Given the description of an element on the screen output the (x, y) to click on. 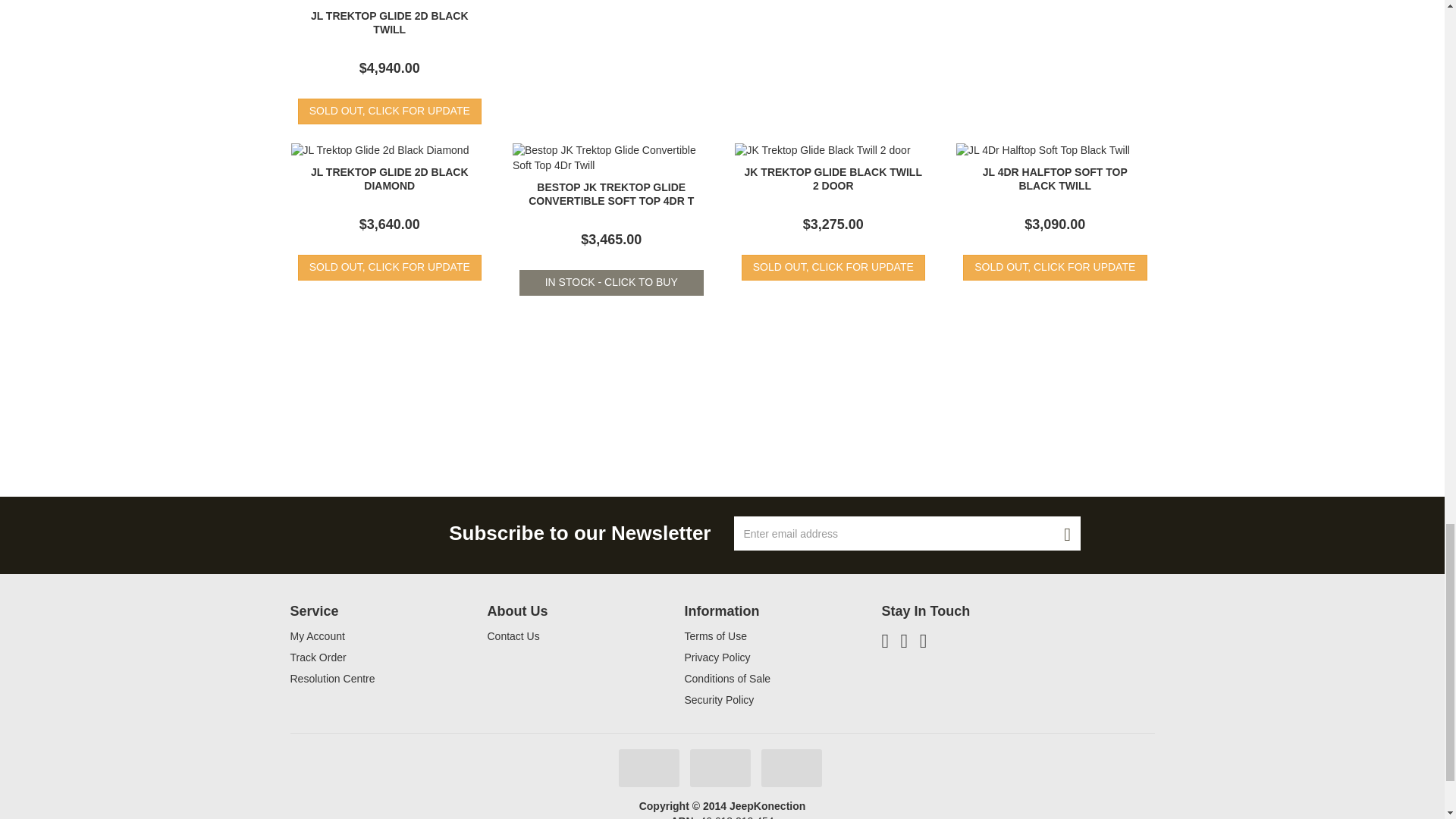
JL Trektop Glide 2d Black Diamond (389, 178)
JK Trektop Glide Black Twill 2 door (832, 178)
Bestop JK Trektop Glide Convertible Soft Top 4Dr Twill (611, 193)
JL Trektop Glide 2d Black Twill (389, 22)
JL 4Dr Halftop Soft Top Black Twill (1054, 178)
Add to Cart (611, 282)
